Given the description of an element on the screen output the (x, y) to click on. 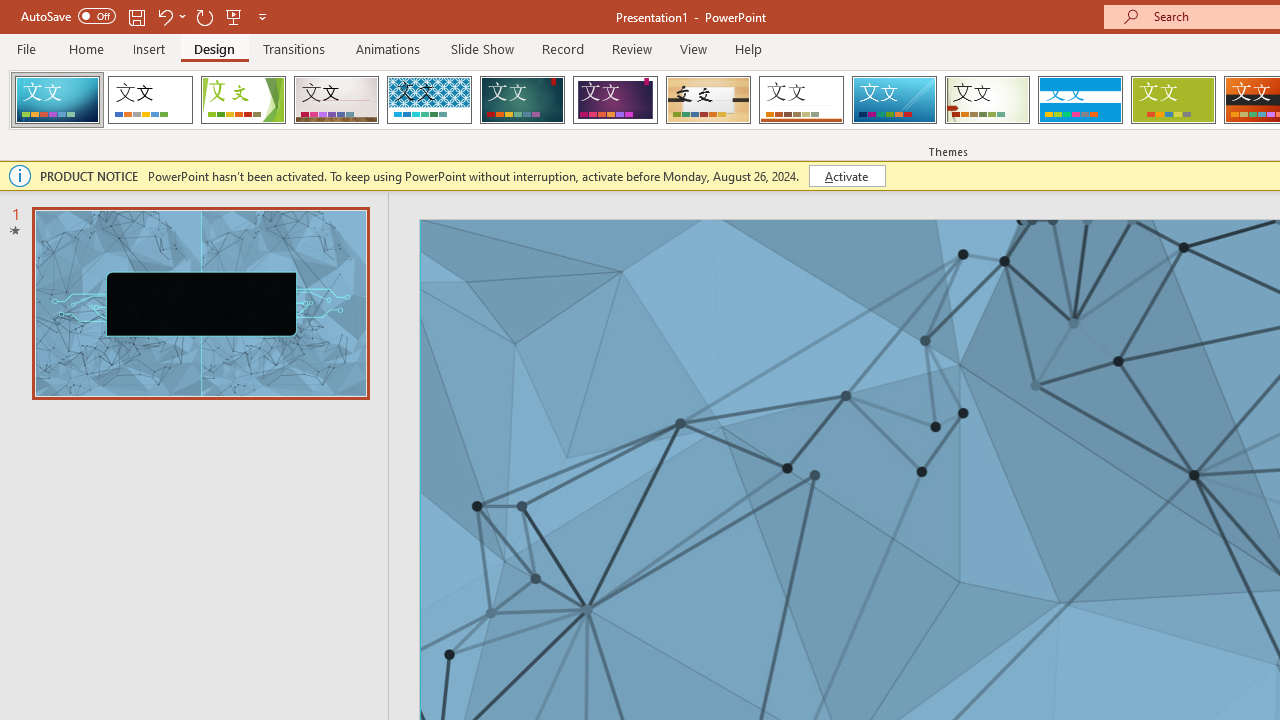
Banded (1080, 100)
Retrospect (801, 100)
FadeVTI (57, 100)
Organic (708, 100)
